Given the description of an element on the screen output the (x, y) to click on. 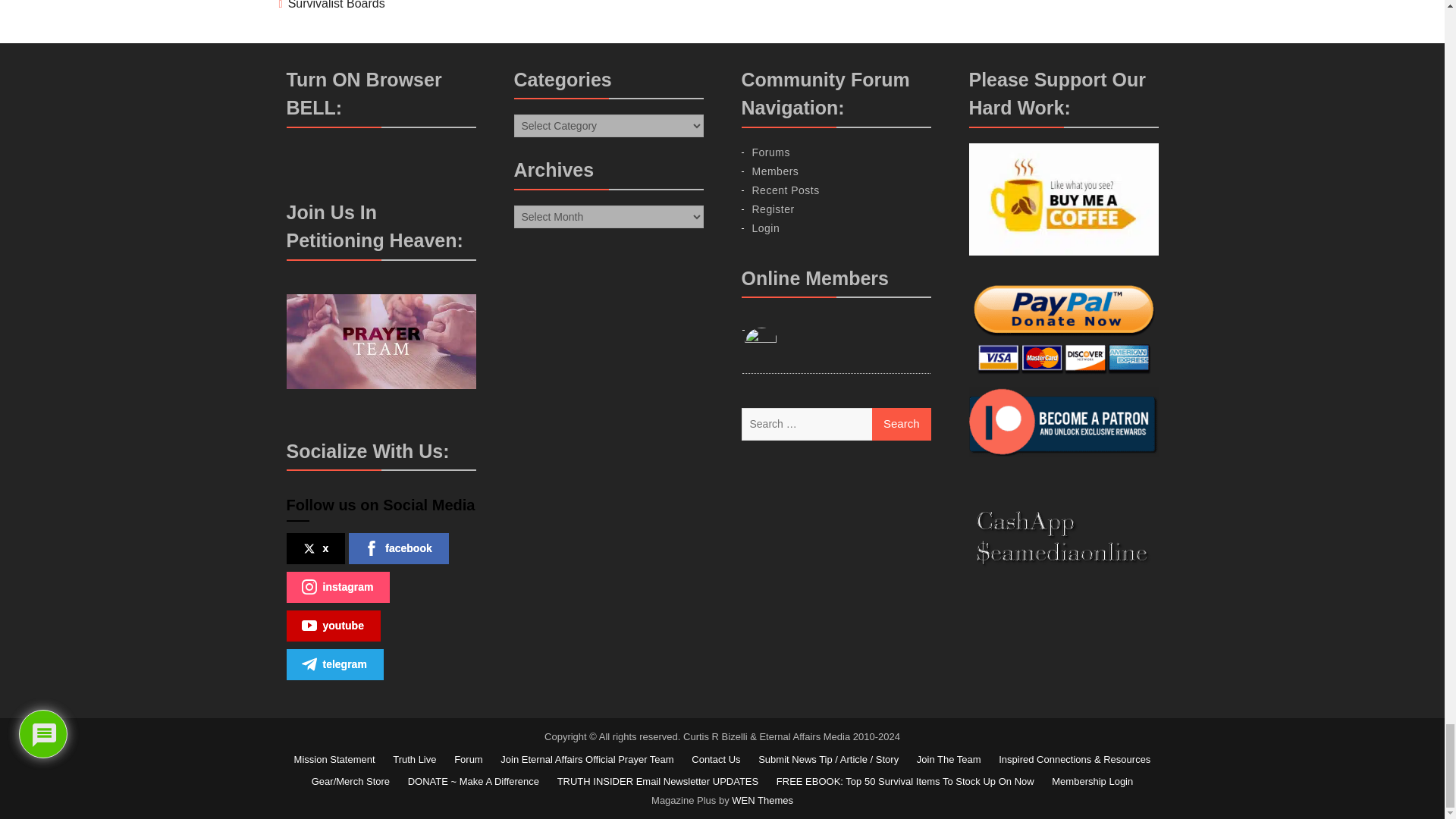
Search (901, 423)
Search (901, 423)
